Given the description of an element on the screen output the (x, y) to click on. 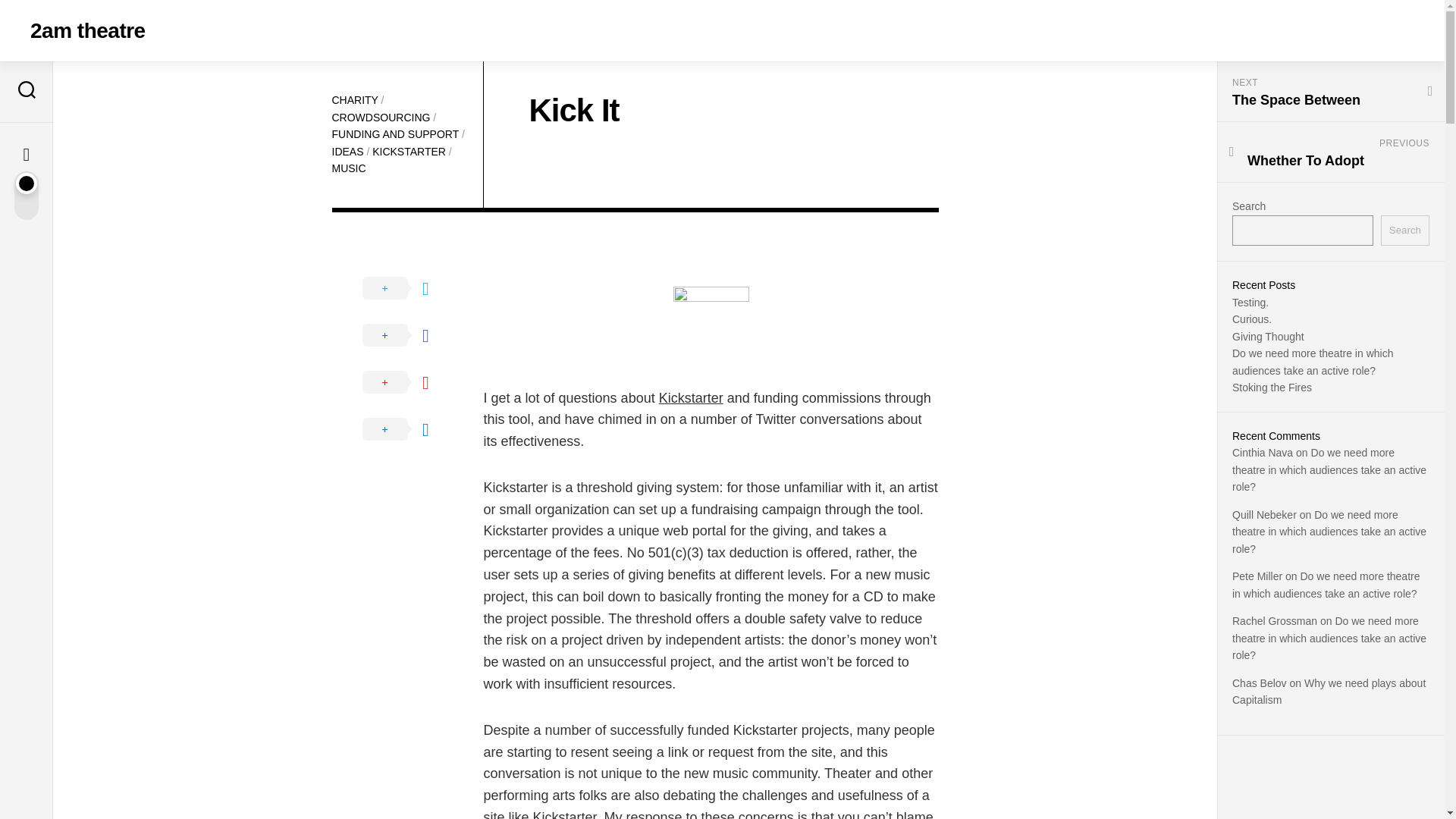
IDEAS (347, 151)
2am theatre (87, 31)
CROWDSOURCING (380, 116)
Share on X (407, 288)
KICKSTARTER (408, 151)
Kickstarter (691, 396)
kickstarterlogo (710, 324)
FUNDING AND SUPPORT (395, 133)
CHARITY (354, 100)
Share on Pinterest (407, 382)
Share on Facebook (407, 335)
Share on LinkedIn (407, 429)
MUSIC (348, 168)
